Given the description of an element on the screen output the (x, y) to click on. 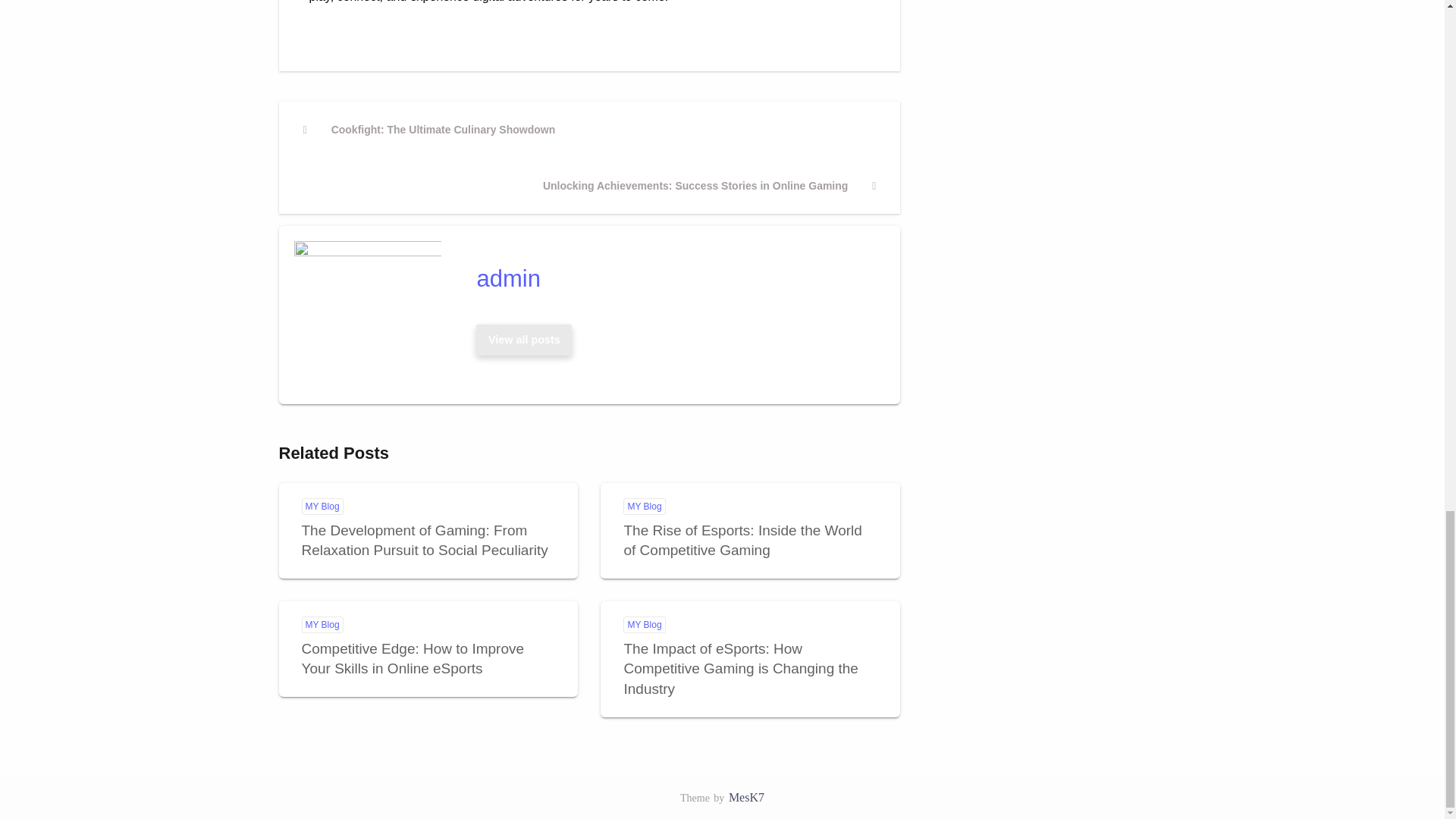
MY Blog (322, 624)
admin (523, 339)
admin (674, 278)
View all posts (524, 339)
MesK7 (746, 797)
MY Blog (322, 506)
MY Blog (644, 624)
View all posts (523, 339)
MY Blog (644, 506)
The Rise of Esports: Inside the World of Competitive Gaming (429, 129)
